Given the description of an element on the screen output the (x, y) to click on. 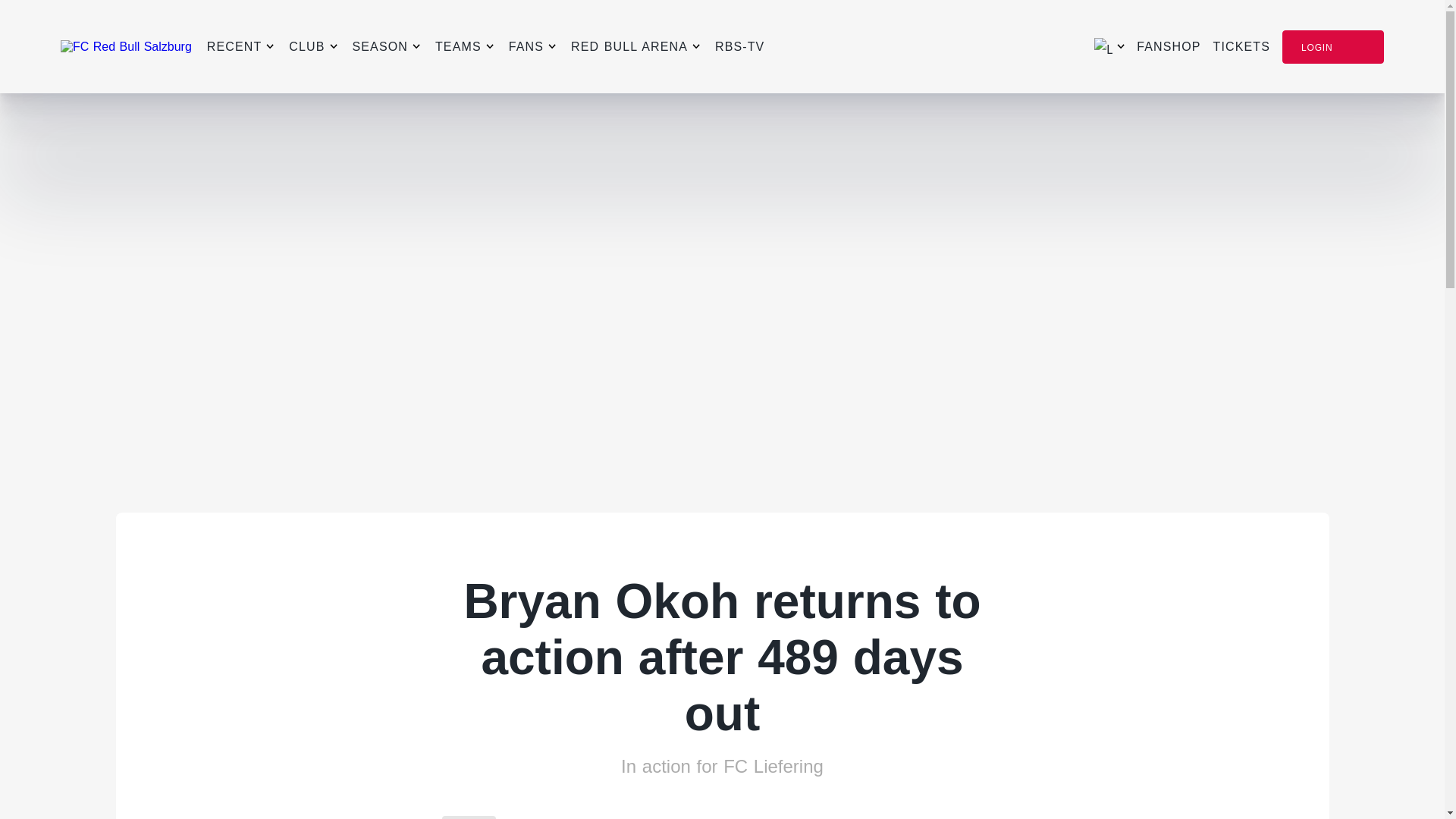
TICKETS (1240, 46)
LOGIN (1333, 46)
FANSHOP (1168, 46)
OpenIdConnect (26, 7)
RBS-TV (739, 46)
